Given the description of an element on the screen output the (x, y) to click on. 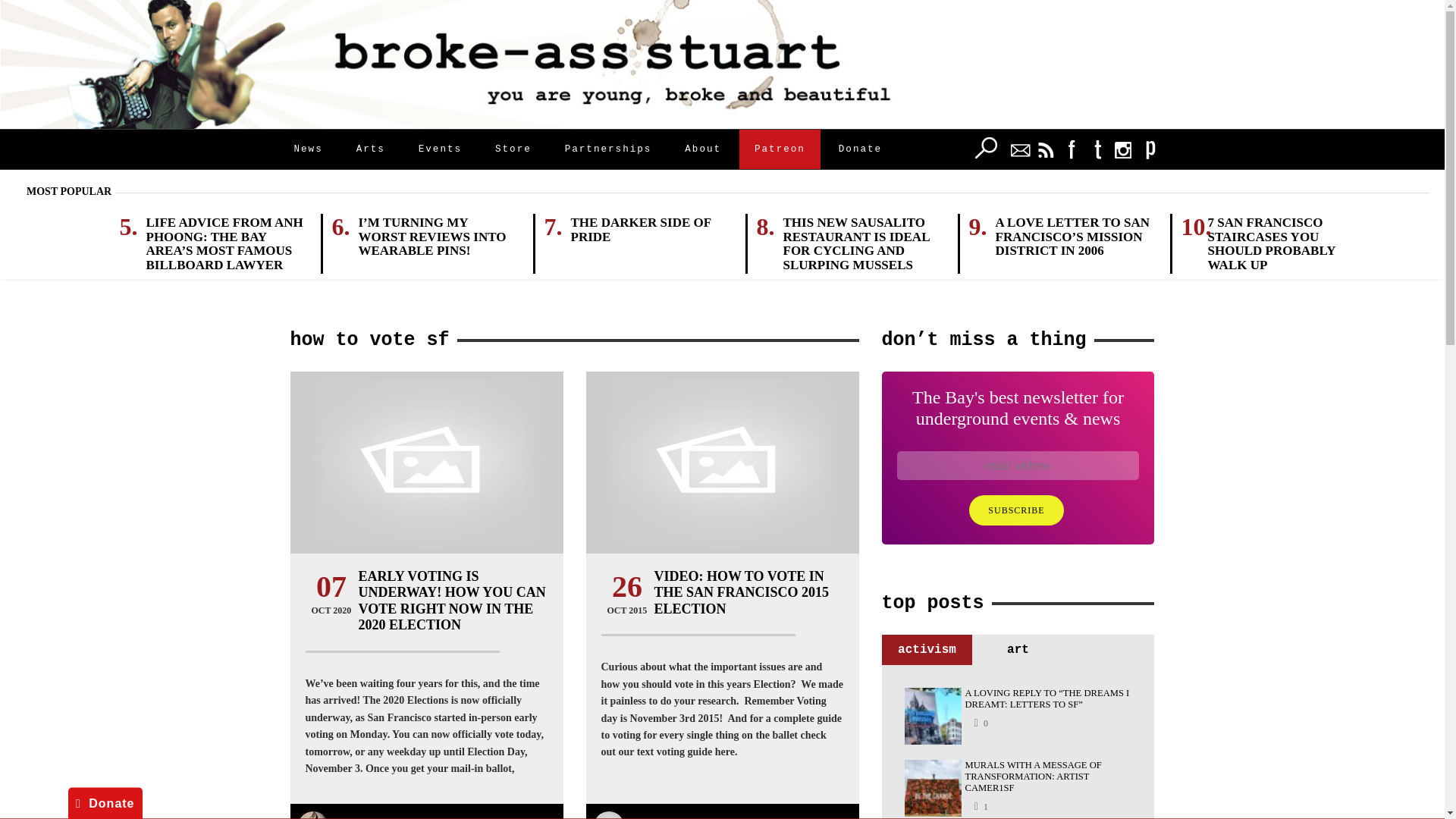
News (308, 148)
Arts (370, 148)
About (702, 148)
Subscribe (1015, 510)
Events (440, 148)
View all posts by Joe Kukura- Millionaire in Training (422, 816)
Donate (860, 148)
View all posts by Alex Mak - Managing Editor (697, 816)
I like this (979, 805)
Patreon (780, 148)
I like this (979, 723)
Store (513, 148)
